Given the description of an element on the screen output the (x, y) to click on. 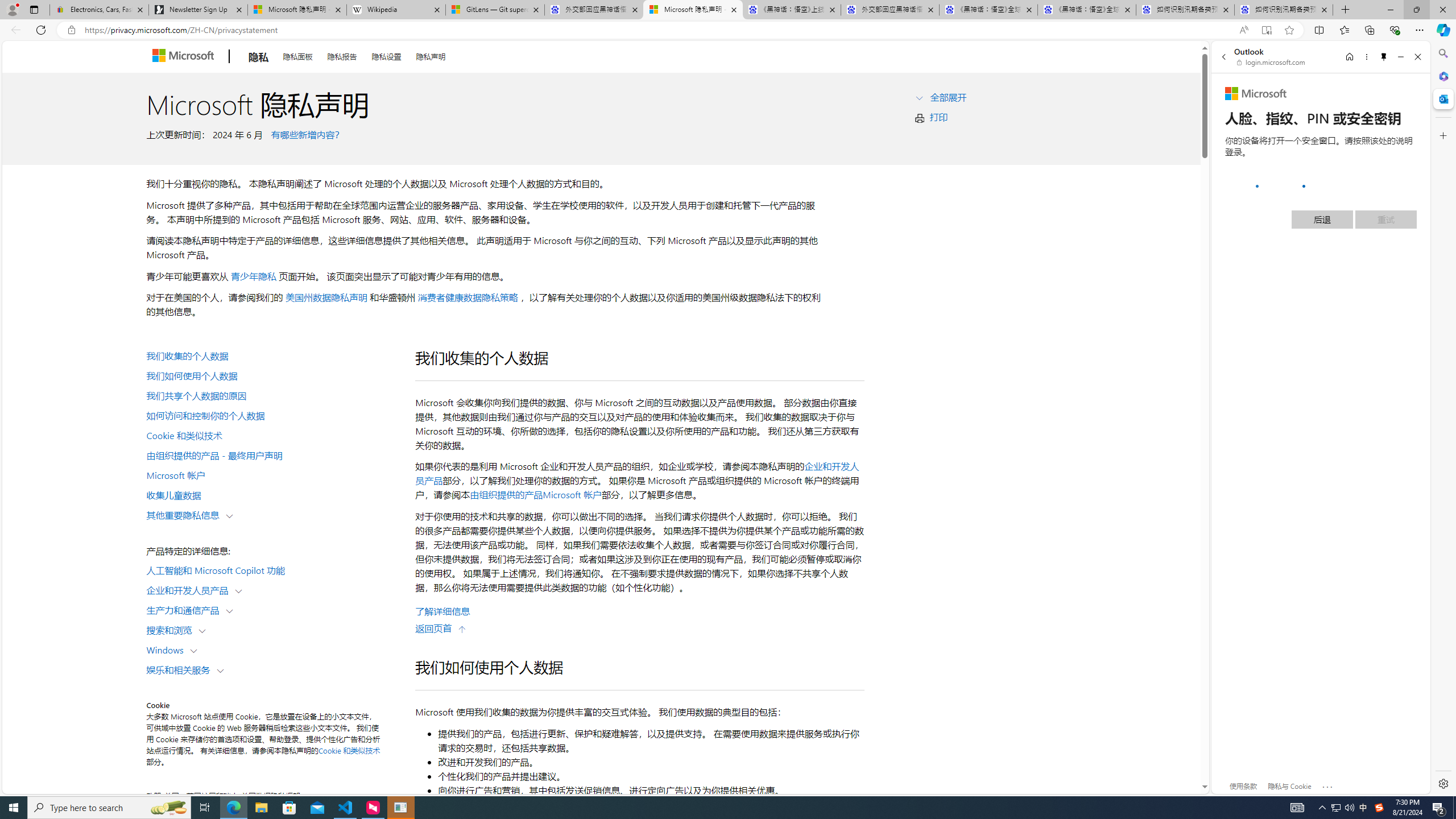
Windows (167, 649)
Newsletter Sign Up (197, 9)
